Given the description of an element on the screen output the (x, y) to click on. 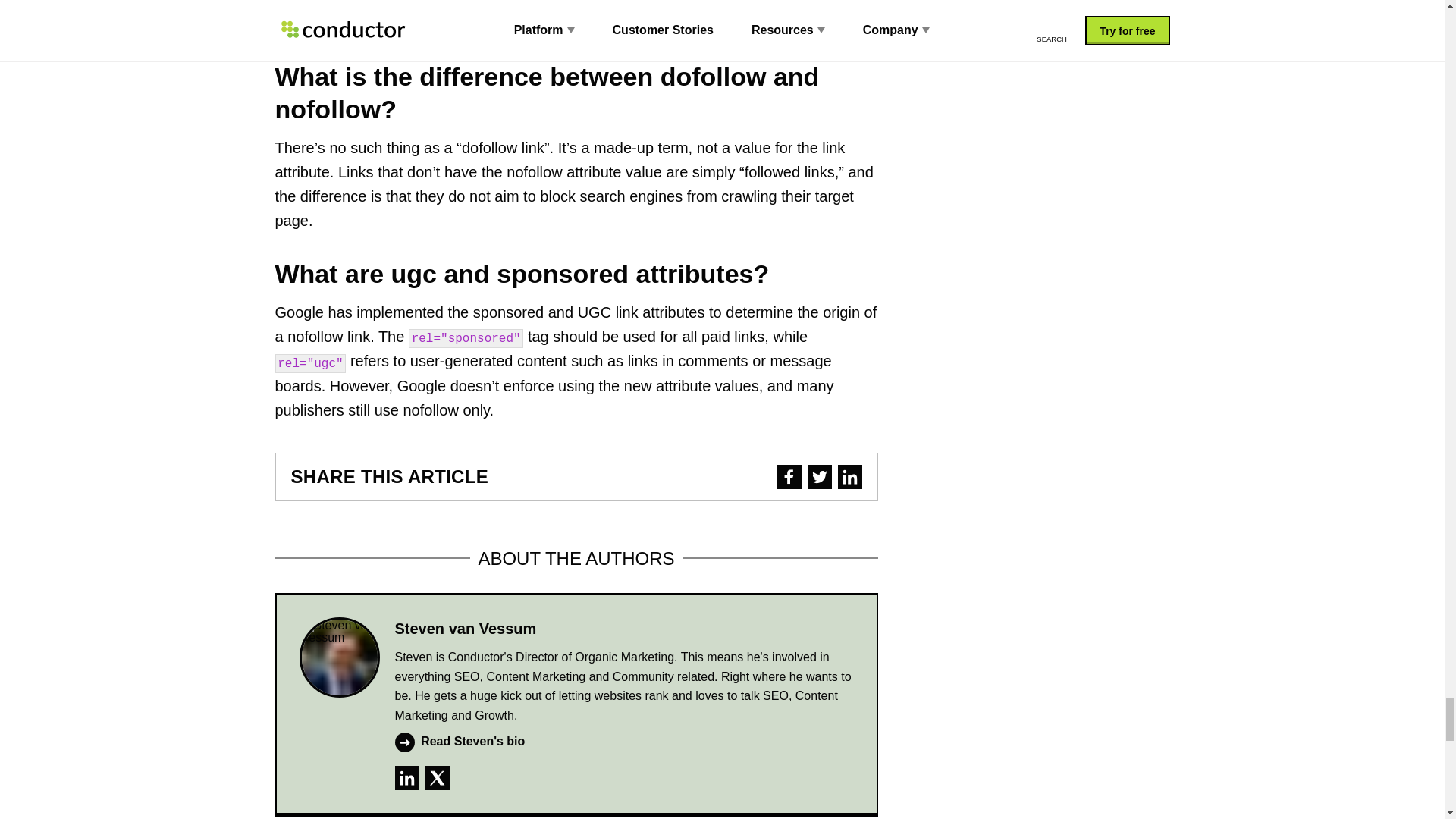
Share on Twitter (818, 476)
Share on Facebook (788, 476)
LinkedIn (406, 777)
X (436, 777)
Share on LinkedIn (849, 476)
